Given the description of an element on the screen output the (x, y) to click on. 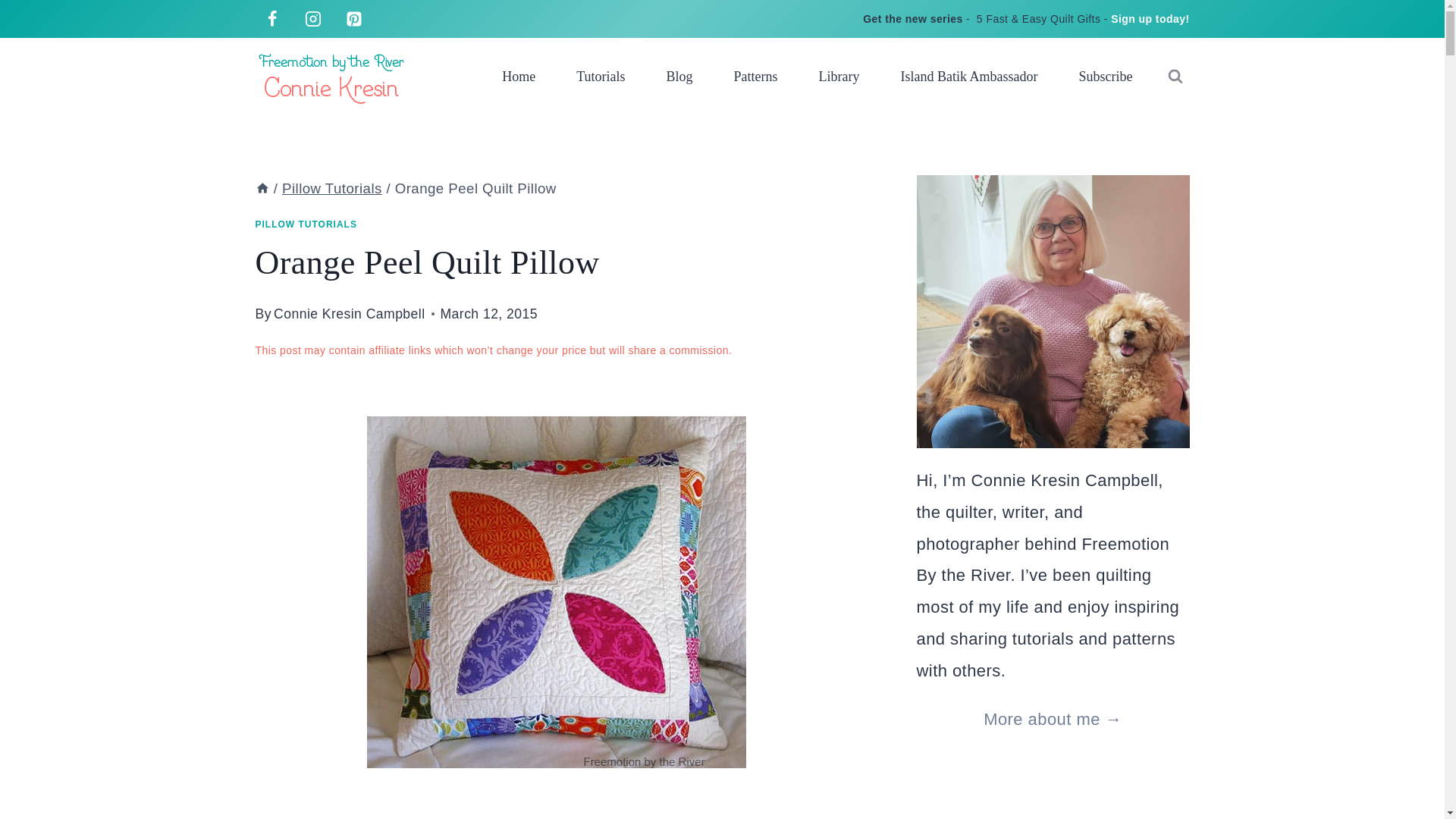
Blog (679, 76)
PILLOW TUTORIALS (305, 224)
Home (518, 76)
Pillow Tutorials (331, 188)
Home (261, 188)
Tutorials (600, 76)
Connie Kresin Campbell (349, 313)
Island Batik Ambassador (969, 76)
Subscribe (1105, 76)
Patterns (755, 76)
Library (838, 76)
Sign up today! (1149, 19)
